Given the description of an element on the screen output the (x, y) to click on. 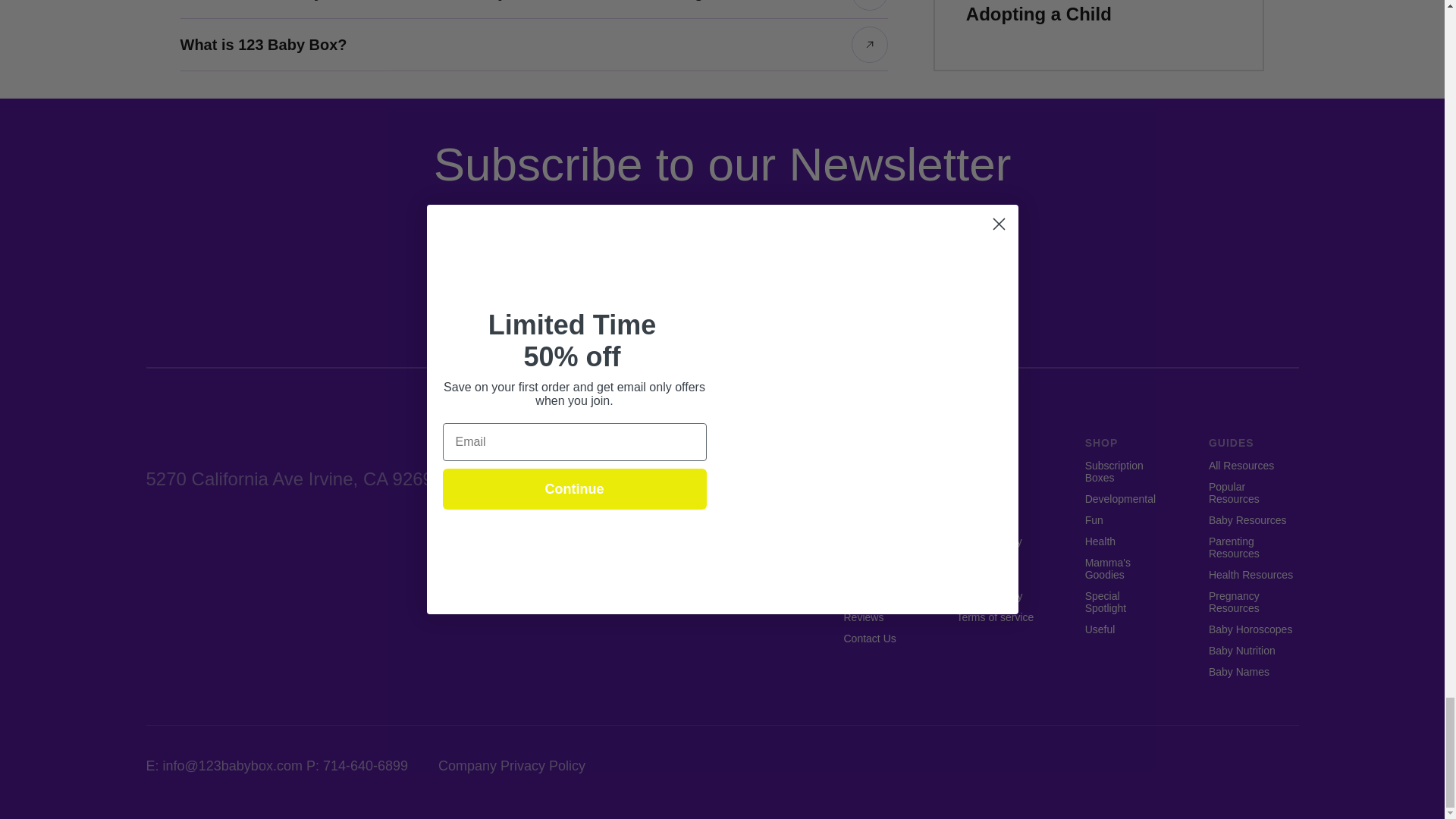
SUBSCRIBE (848, 275)
